Given the description of an element on the screen output the (x, y) to click on. 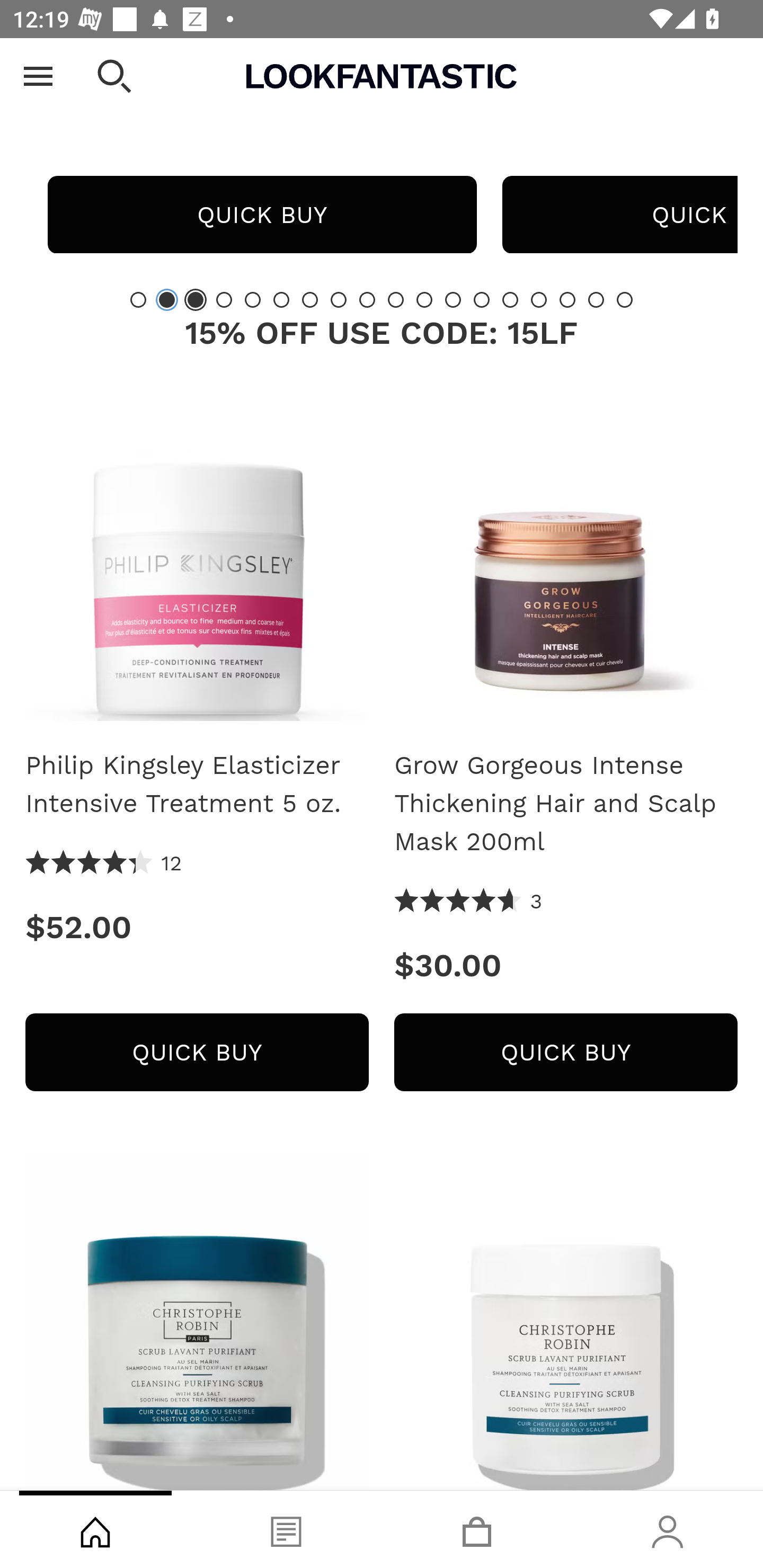
Slide 1 (138, 299)
Showing Slide 2 (Current Item) (166, 299)
Showing Slide 3 (Current Item) (195, 299)
Slide 4 (223, 299)
Slide 5 (252, 299)
Slide 6 (281, 299)
Slide 7 (310, 299)
Slide 8 (338, 299)
Slide 9 (367, 299)
Slide 10 (395, 299)
Slide 11 (424, 299)
Slide 12 (452, 299)
Slide 13 (481, 299)
Slide 14 (510, 299)
Slide 15 (539, 299)
Slide 16 (567, 299)
Slide 17 (596, 299)
Slide 18 (624, 299)
4.33 Stars 12 Reviews (104, 862)
4.67 Stars 3 Reviews (468, 901)
Price: $52.00 (196, 927)
Price: $30.00 (565, 964)
Shop, tab, 1 of 4 (95, 1529)
Blog, tab, 2 of 4 (285, 1529)
Basket, tab, 3 of 4 (476, 1529)
Account, tab, 4 of 4 (667, 1529)
